Given the description of an element on the screen output the (x, y) to click on. 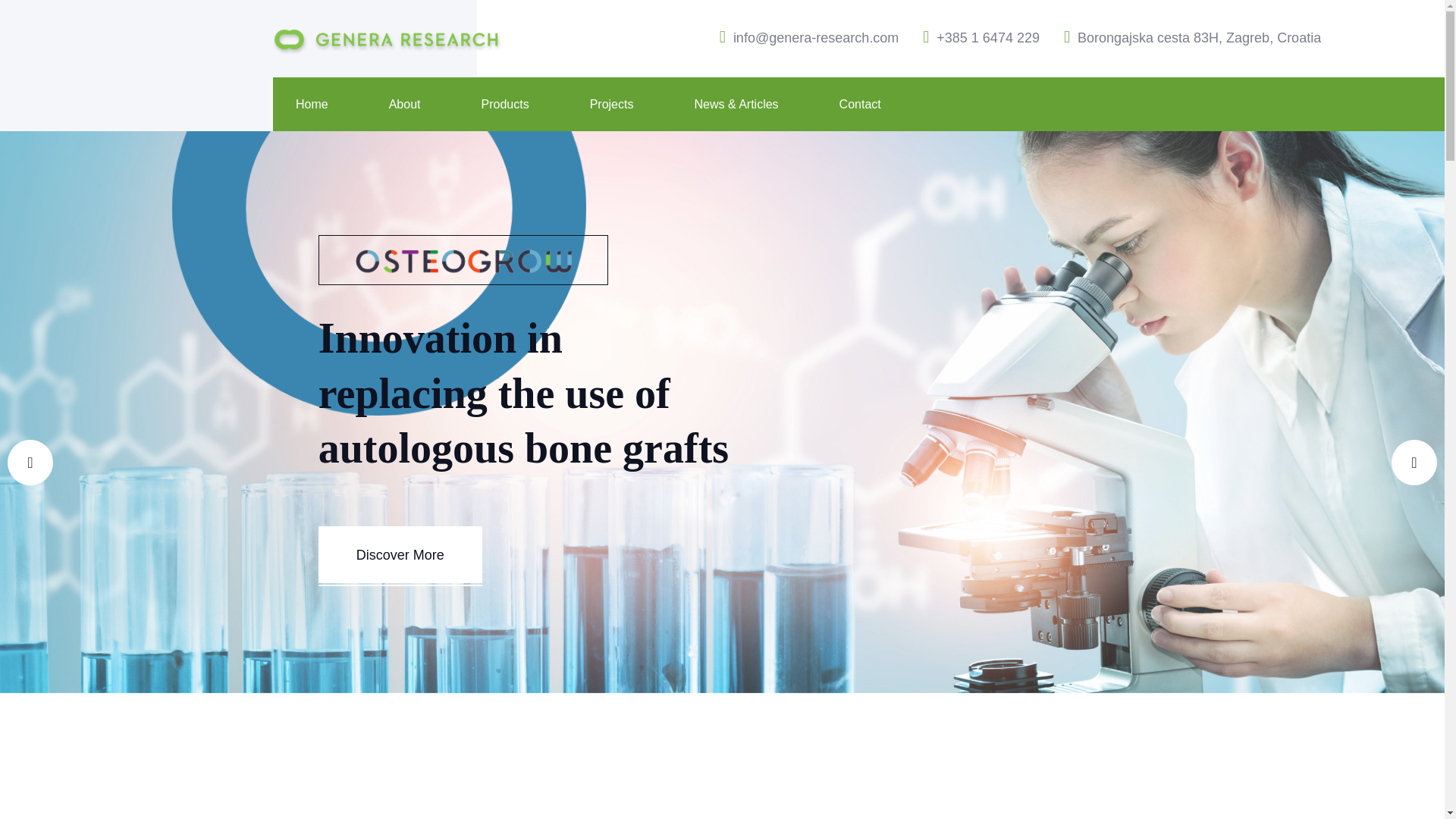
Products (504, 104)
Contact (860, 104)
Home (312, 104)
Projects (611, 104)
About (404, 104)
